Given the description of an element on the screen output the (x, y) to click on. 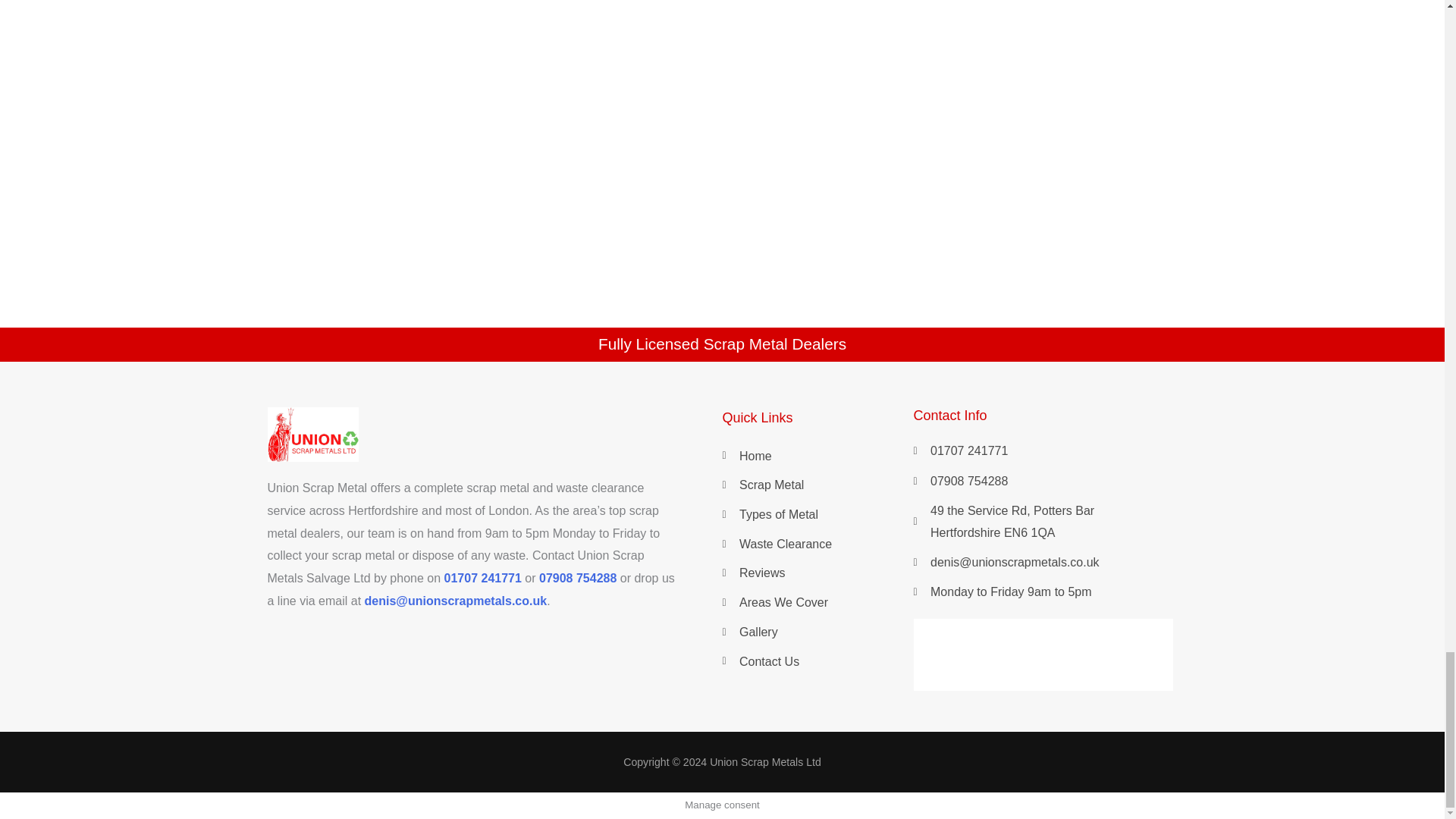
Waste Clearance (817, 544)
Home (817, 456)
01707 241771 (482, 577)
Types of Metal (817, 514)
Reviews (817, 572)
07908 754288 (576, 577)
Scrap Metal (817, 485)
